Given the description of an element on the screen output the (x, y) to click on. 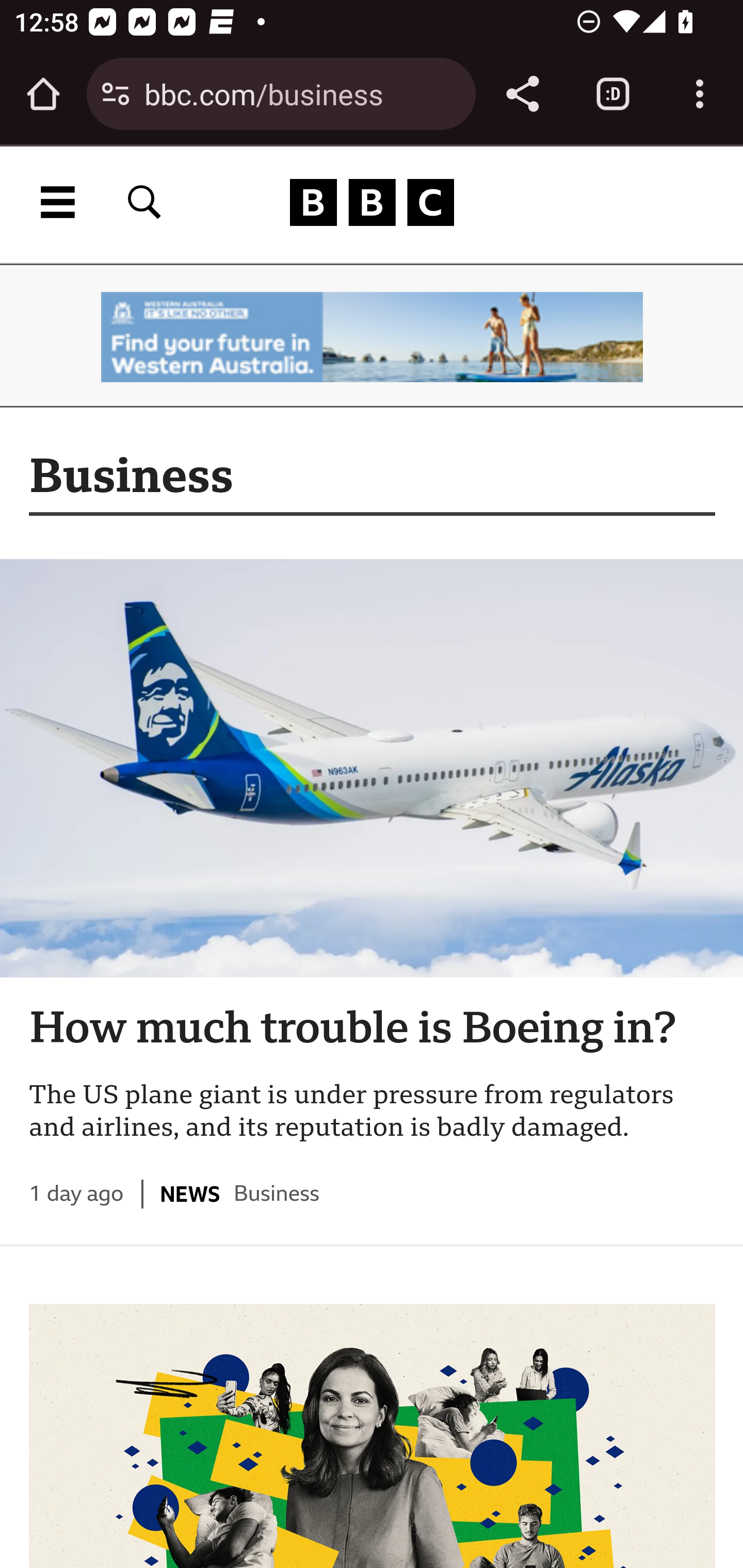
Open the home page (43, 93)
Connection is secure (115, 93)
Share (522, 93)
Switch or close tabs (612, 93)
Customize and control Google Chrome (699, 93)
bbc.com/business (302, 92)
www.bbc (371, 202)
